Given the description of an element on the screen output the (x, y) to click on. 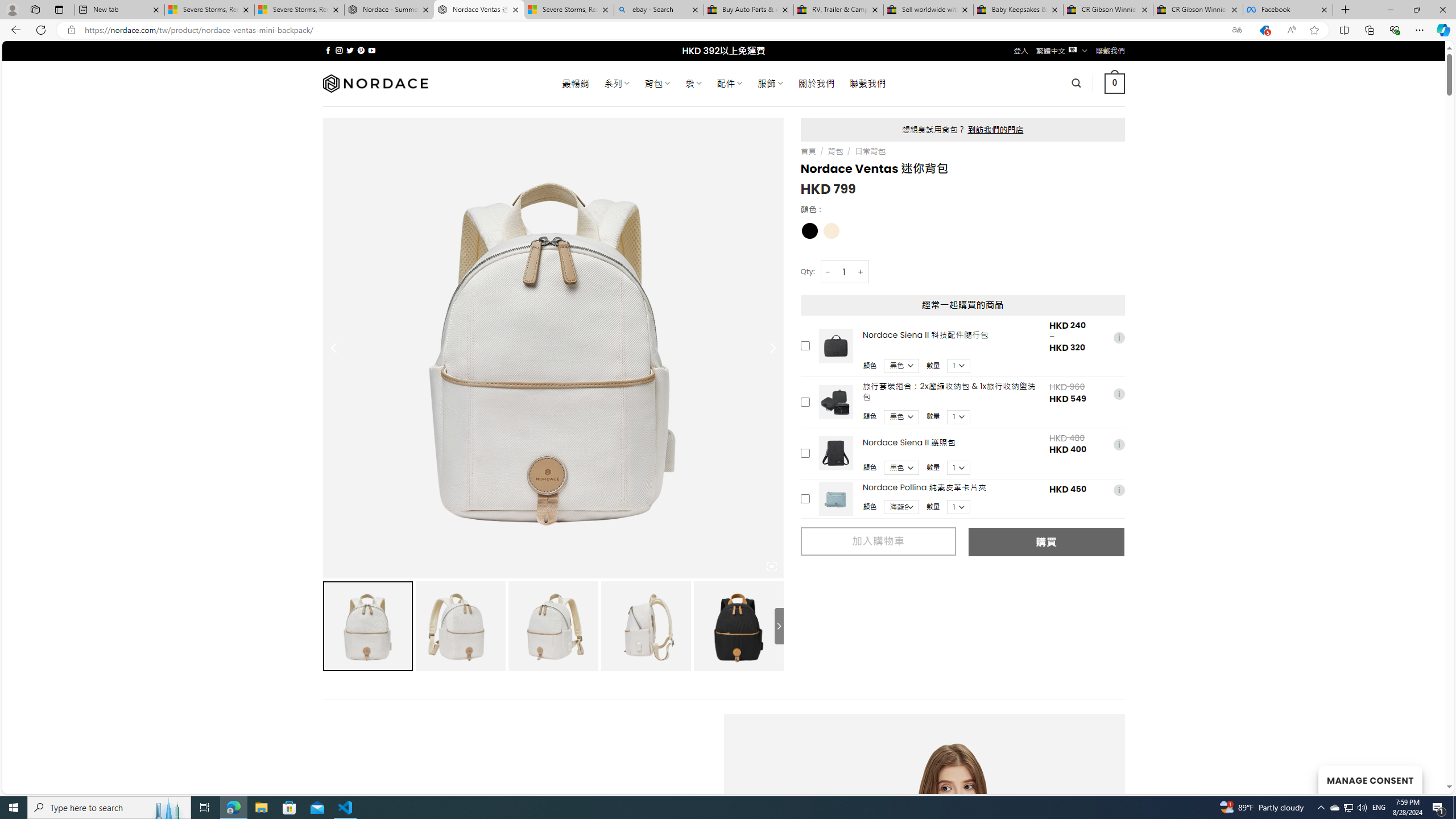
Address and search bar (653, 29)
Class: upsell-v2-product-upsell-variable-product-qty-select (958, 506)
Class: iconic-woothumbs-fullscreen (771, 566)
- (827, 272)
Follow on Instagram (338, 50)
